Given the description of an element on the screen output the (x, y) to click on. 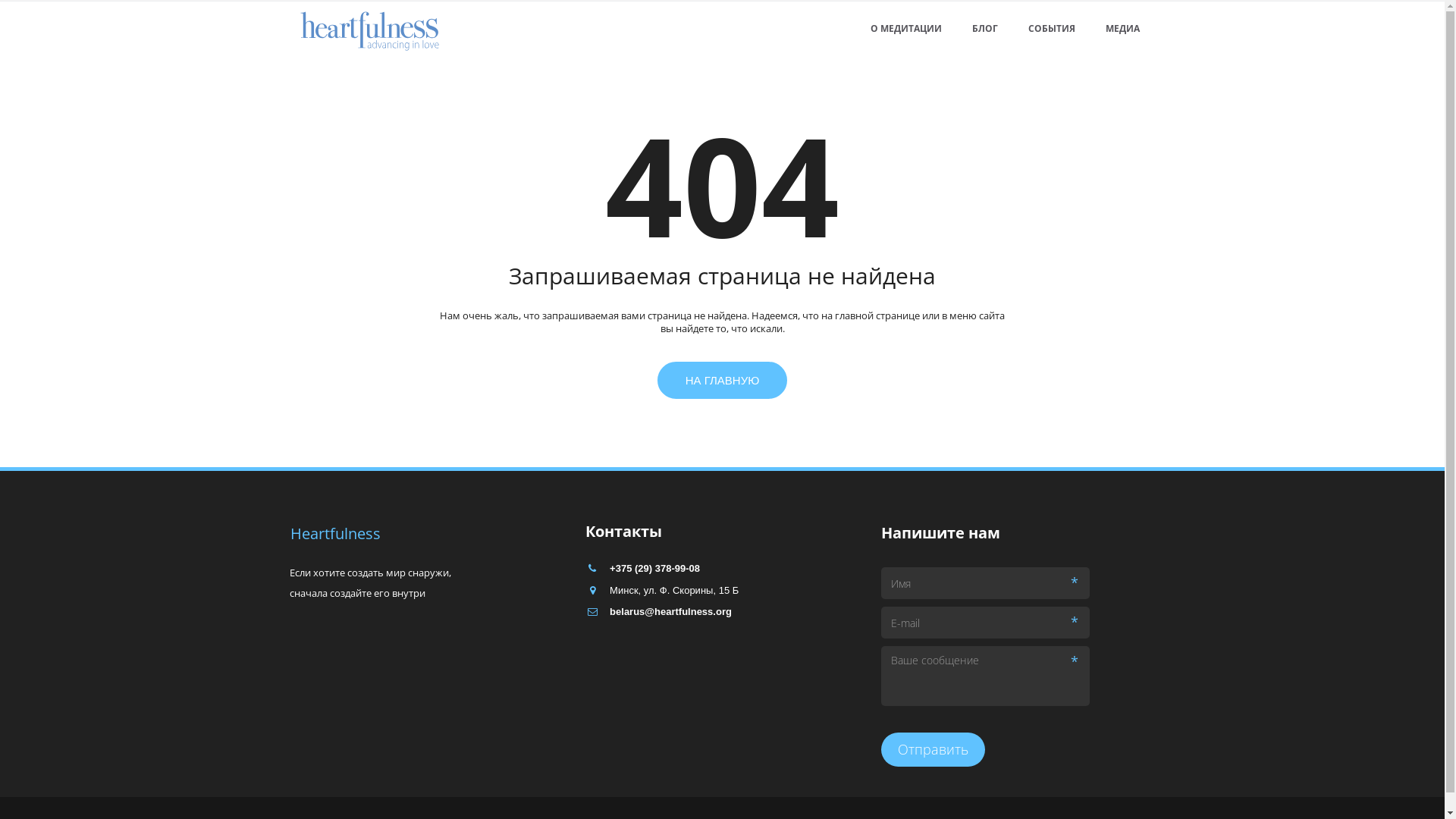
belarus@heartfulness.org Element type: text (670, 611)
+375 (29) 378-99-08 Element type: text (654, 568)
